Given the description of an element on the screen output the (x, y) to click on. 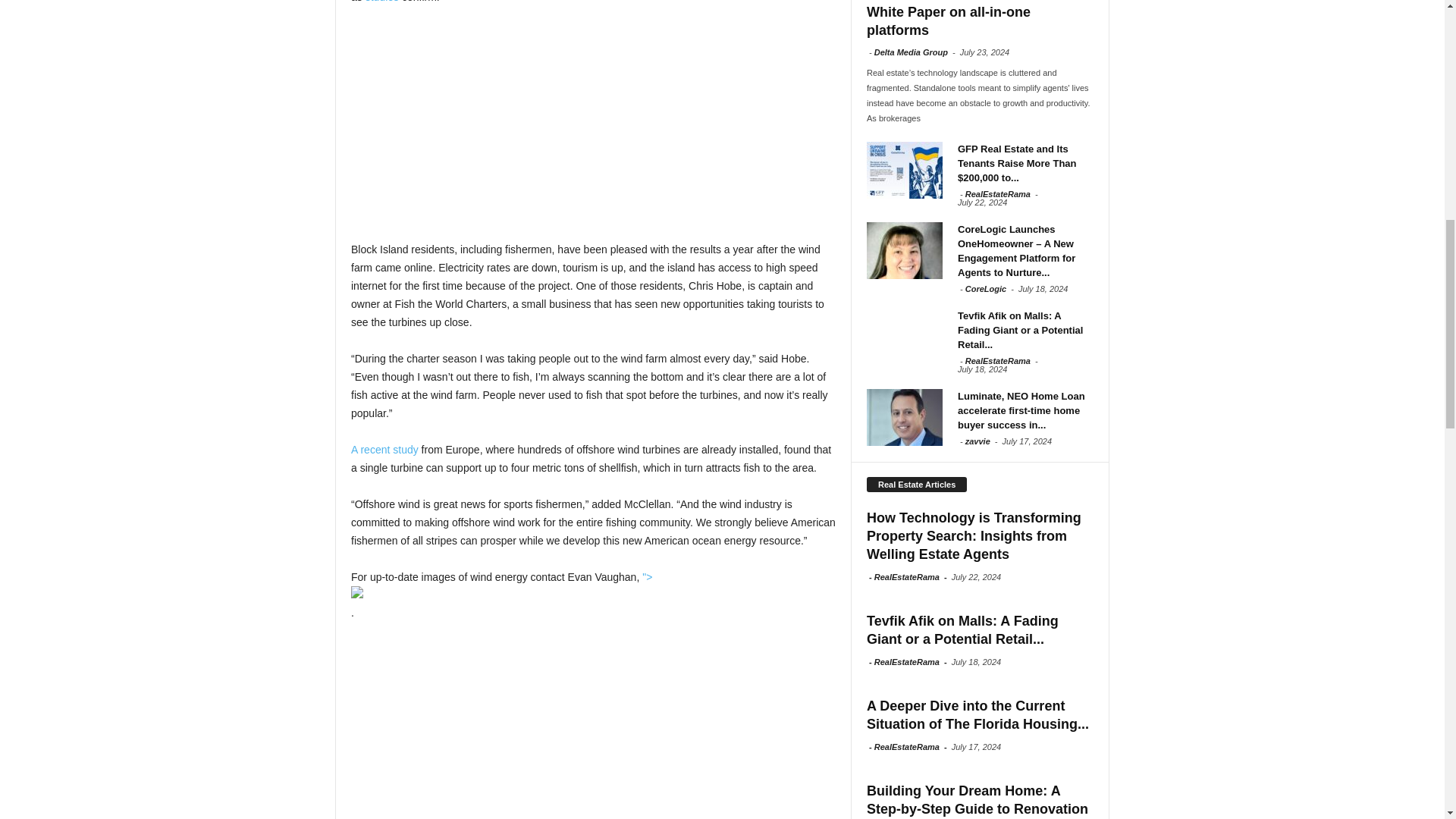
Advertisement (592, 130)
Advertisement (592, 729)
